Given the description of an element on the screen output the (x, y) to click on. 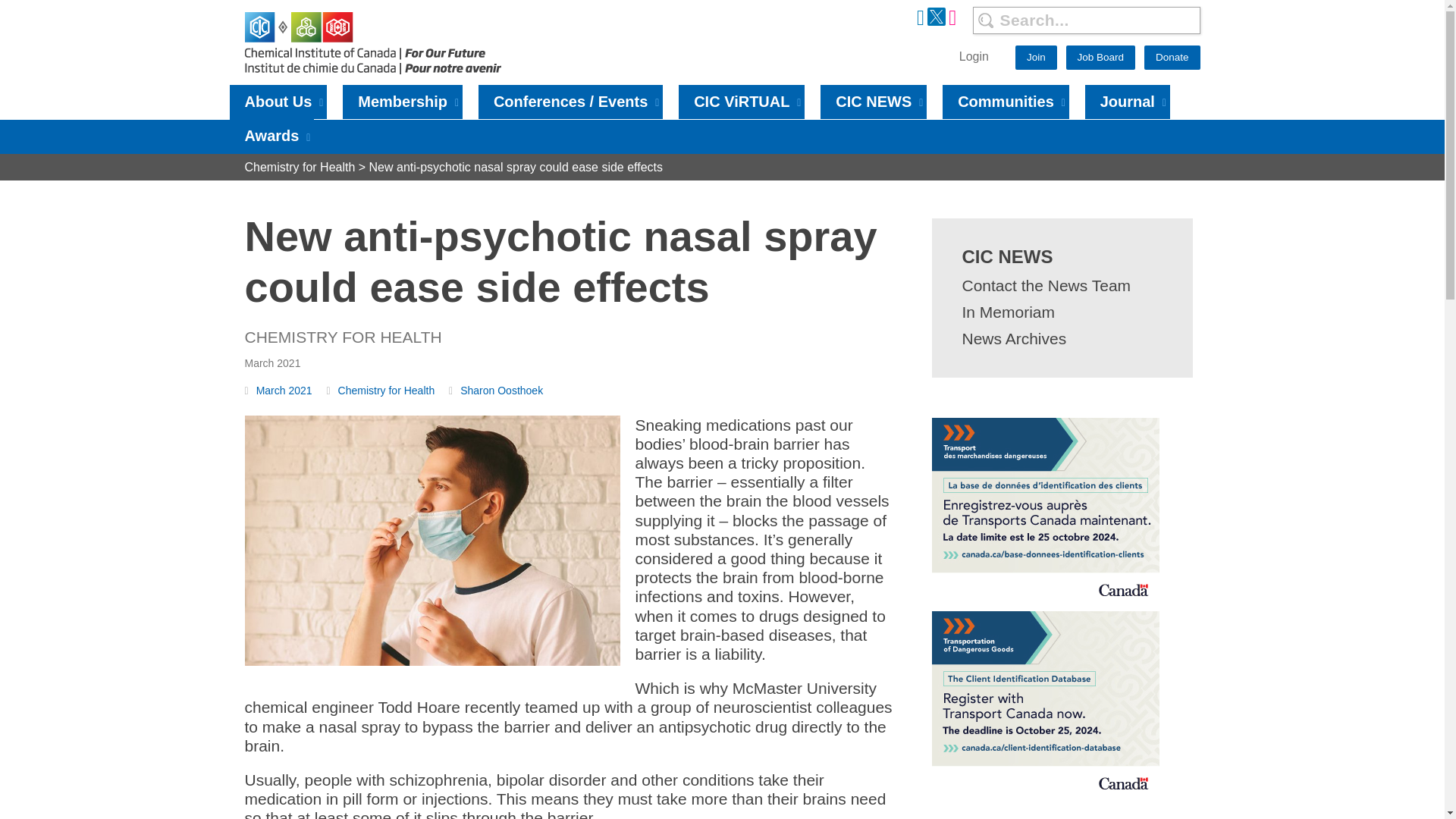
Go to the Chemistry for Health category archives. (299, 166)
Donate (1171, 57)
Job Board (1100, 57)
Membership (402, 101)
About Us (277, 101)
Login (973, 56)
Join (1035, 57)
